Given the description of an element on the screen output the (x, y) to click on. 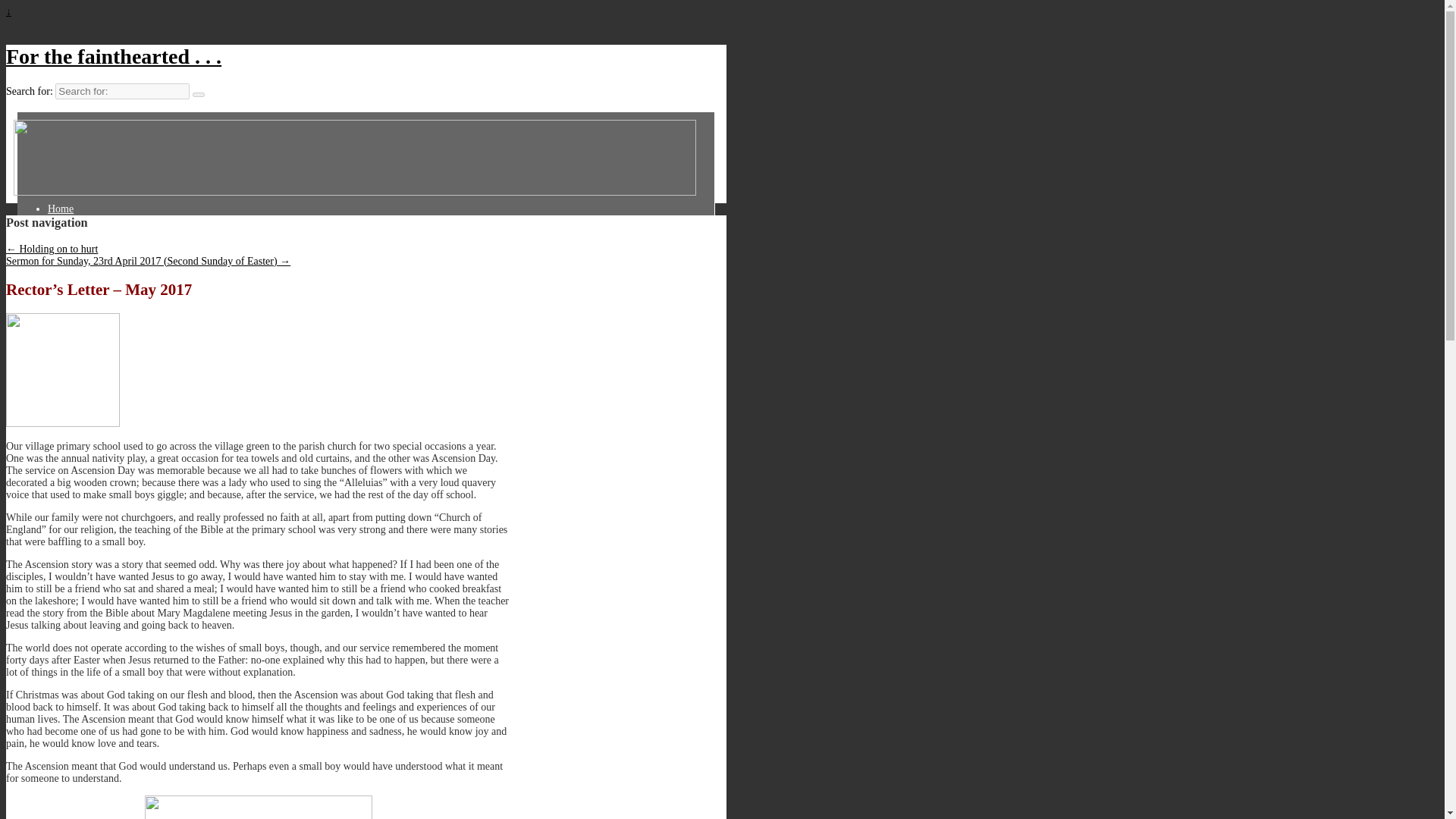
This blog . . . (85, 245)
Ian Poulton (81, 232)
For the fainthearted . . . (113, 56)
For the fainthearted . . . (113, 56)
Home (70, 209)
Home (70, 209)
Comments Policy (94, 220)
